Given the description of an element on the screen output the (x, y) to click on. 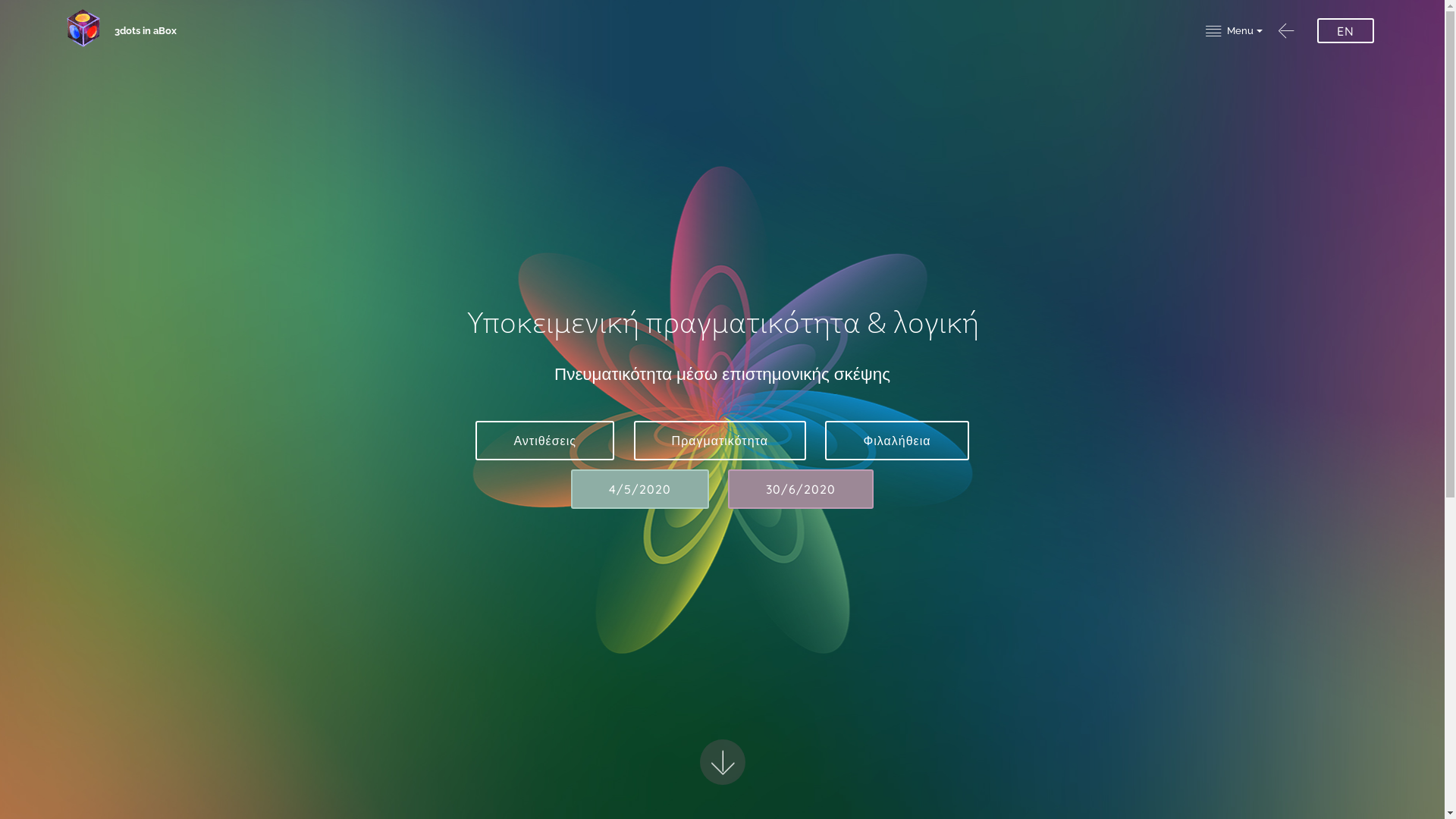
4/5/2020 Element type: text (640, 488)
30/6/2020 Element type: text (800, 488)
3dots in aBox Element type: text (157, 30)
EN Element type: text (1345, 30)
Menu Element type: text (1233, 31)
